Given the description of an element on the screen output the (x, y) to click on. 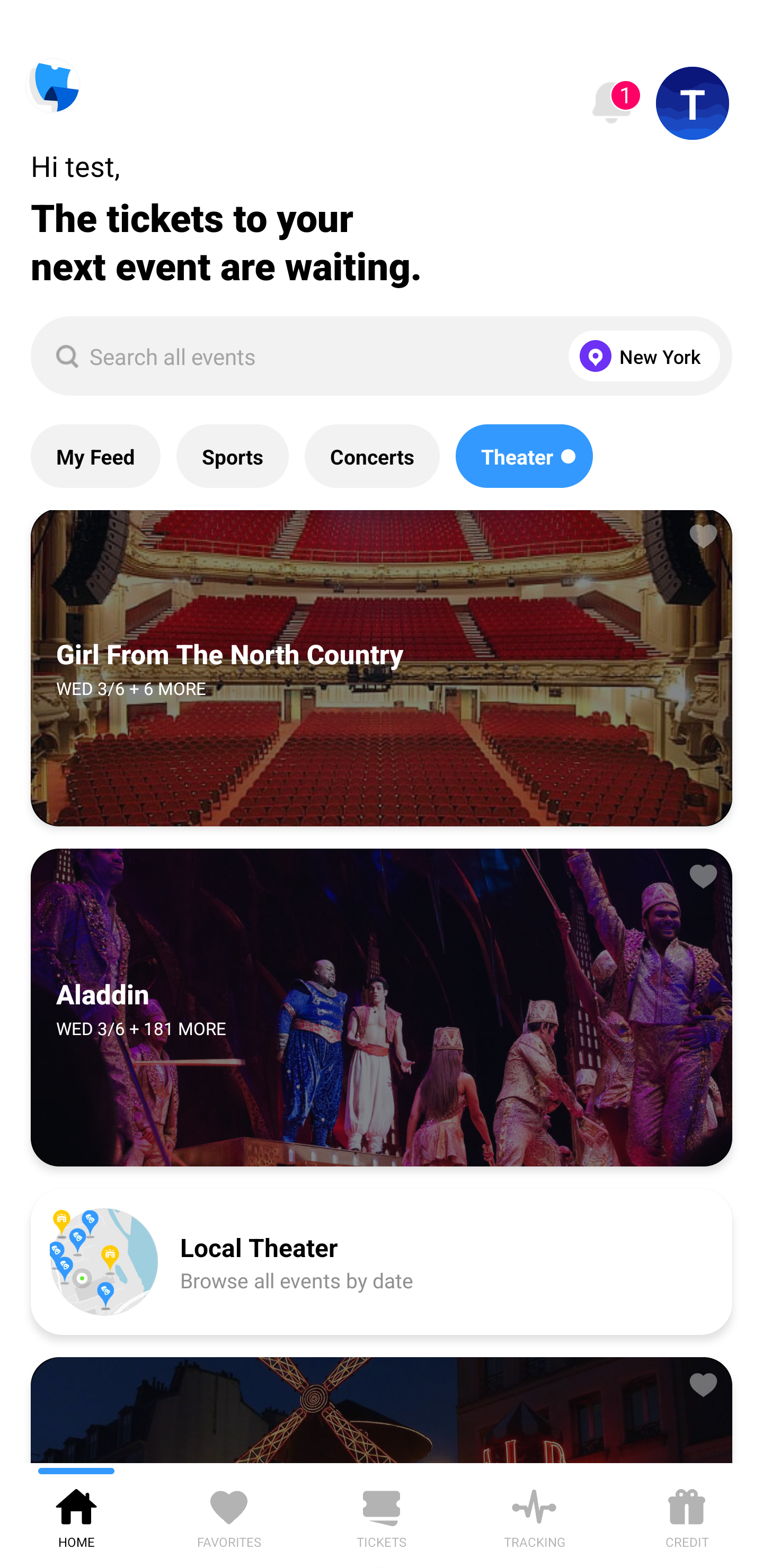
T (692, 103)
1 (611, 103)
New York (640, 355)
My Feed (95, 455)
Sports (232, 455)
Concerts (371, 455)
Theater (523, 455)
HOME (76, 1515)
FAVORITES (228, 1515)
TICKETS (381, 1515)
TRACKING (533, 1515)
CREDIT (686, 1515)
